Given the description of an element on the screen output the (x, y) to click on. 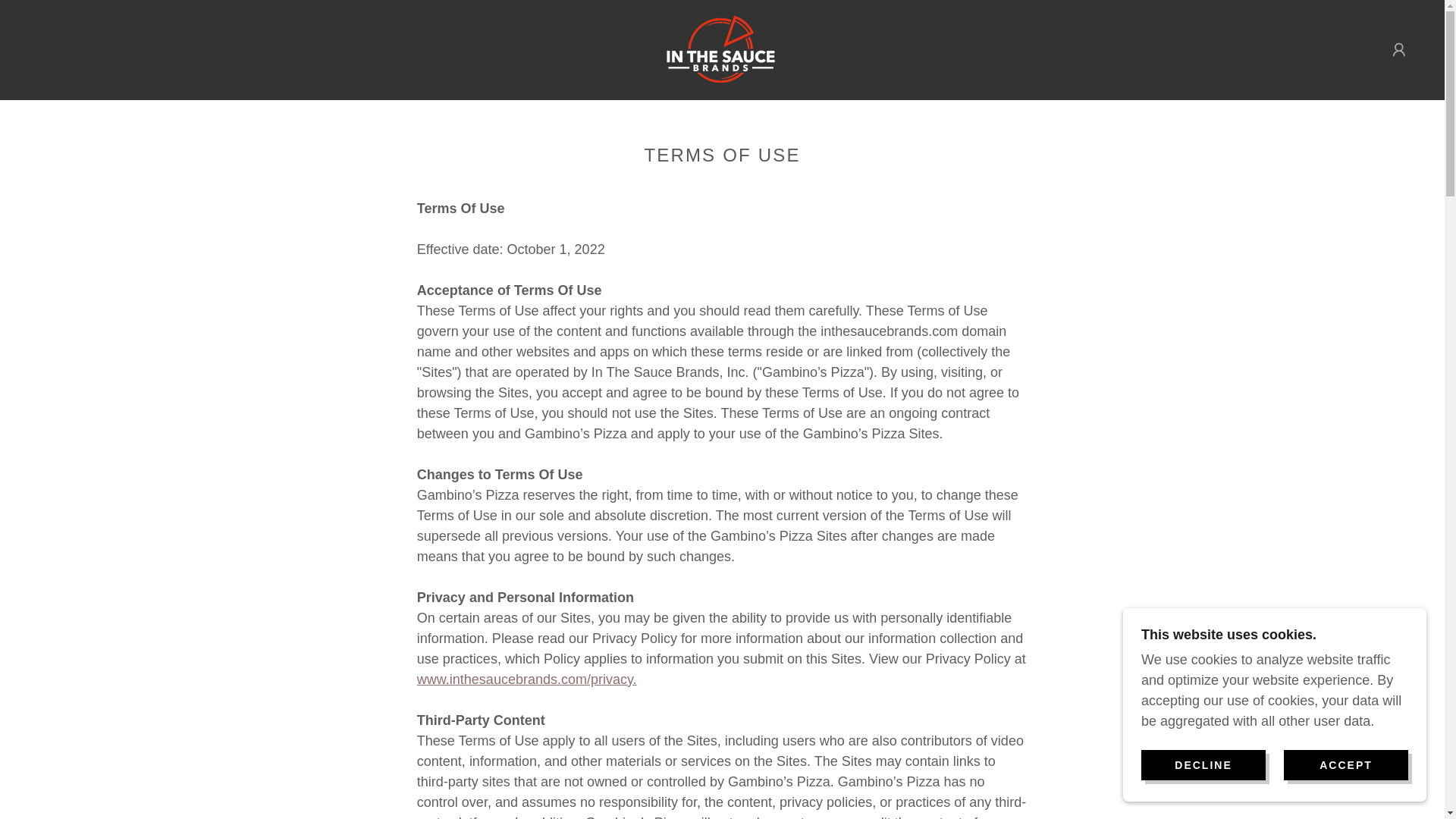
In The Sauce Brands (722, 48)
DECLINE (1203, 764)
ACCEPT (1345, 764)
